Given the description of an element on the screen output the (x, y) to click on. 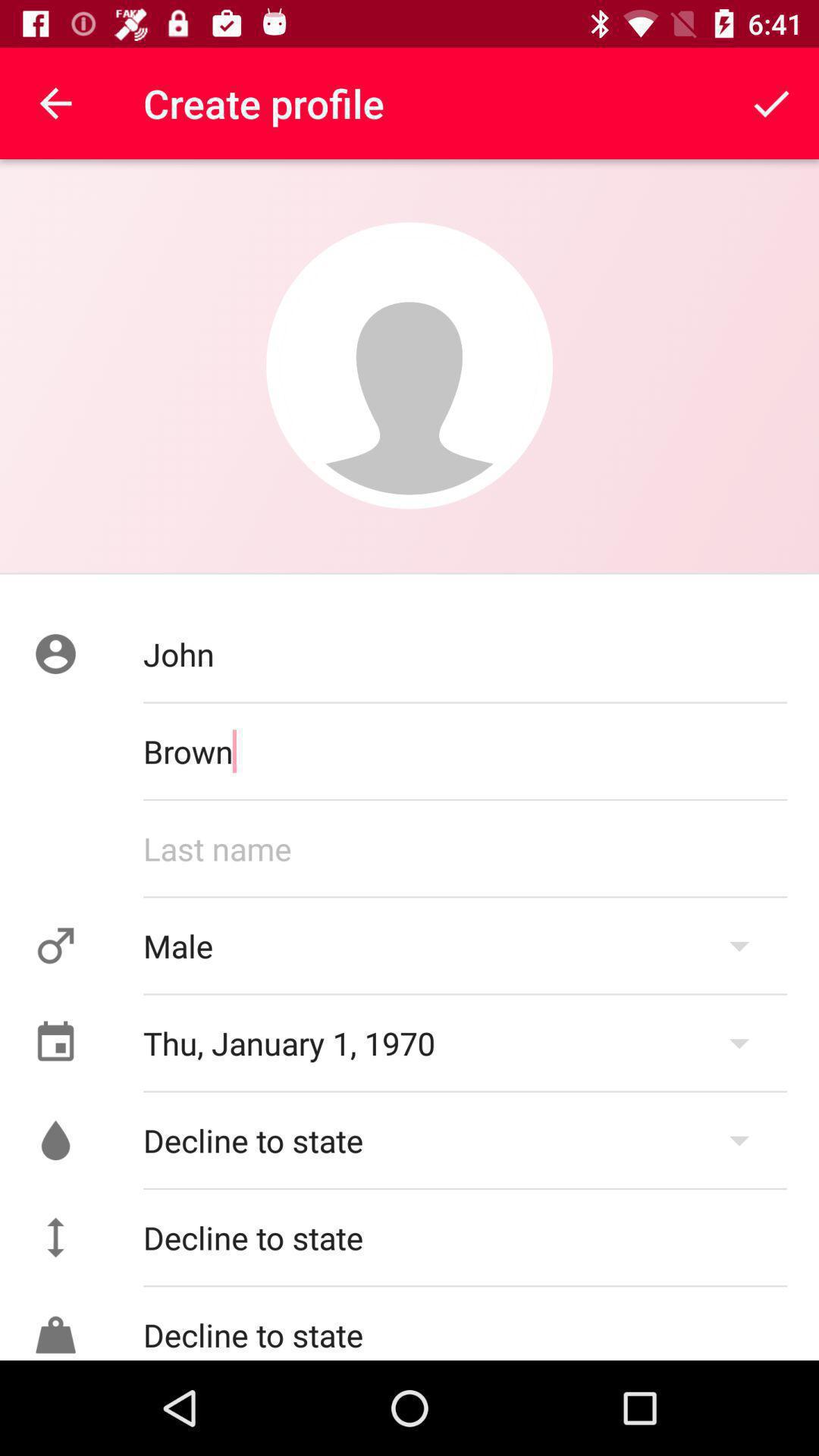
type last name in the textbox (465, 848)
